Given the description of an element on the screen output the (x, y) to click on. 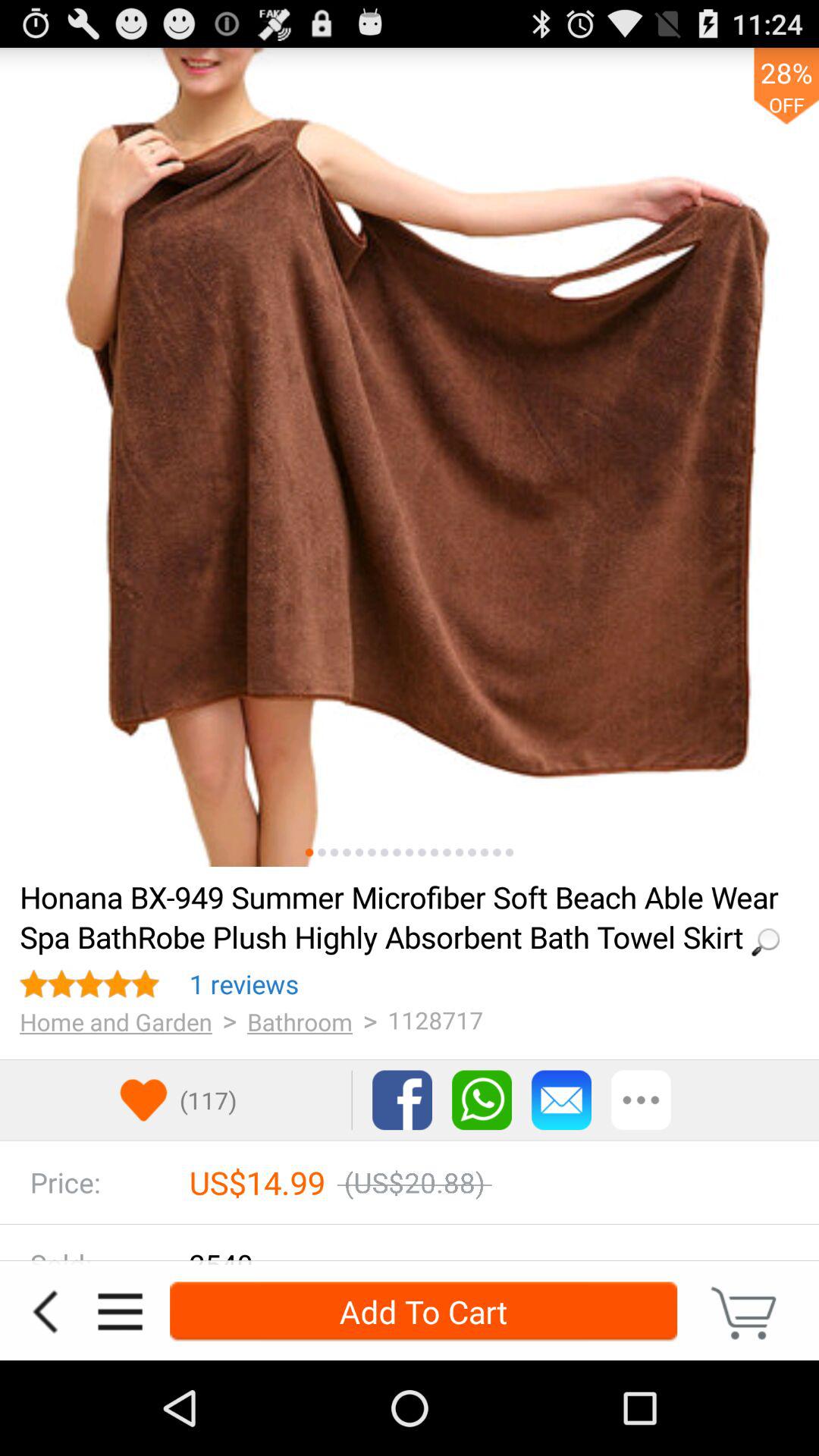
other picture (321, 852)
